Given the description of an element on the screen output the (x, y) to click on. 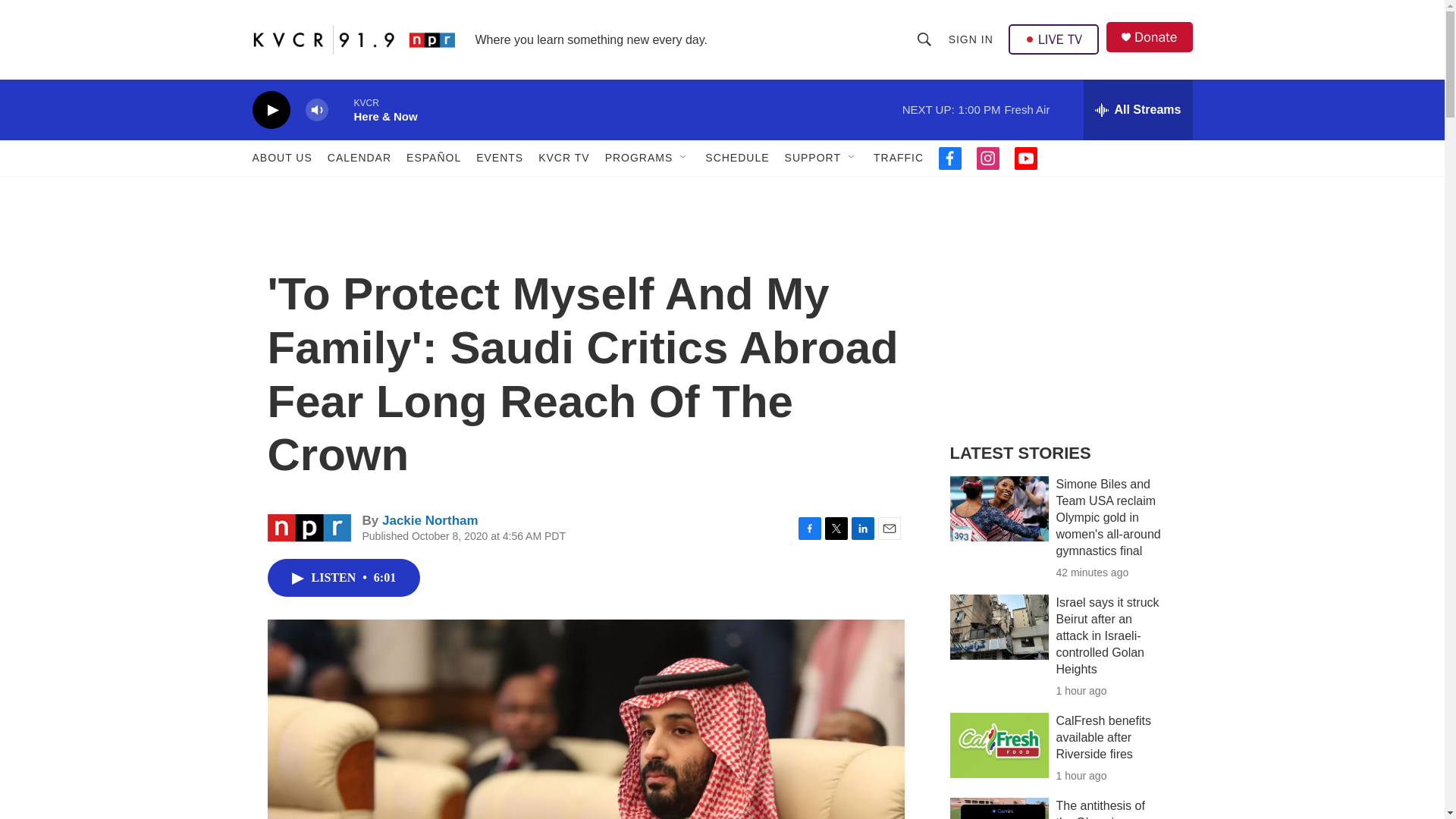
3rd party ad content (1062, 316)
